Given the description of an element on the screen output the (x, y) to click on. 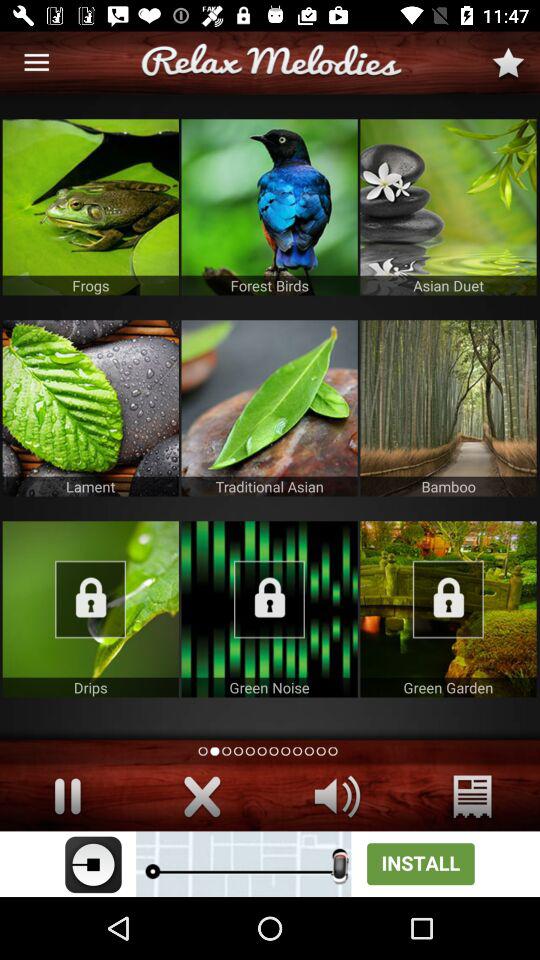
closing the relax melodies (202, 796)
